Given the description of an element on the screen output the (x, y) to click on. 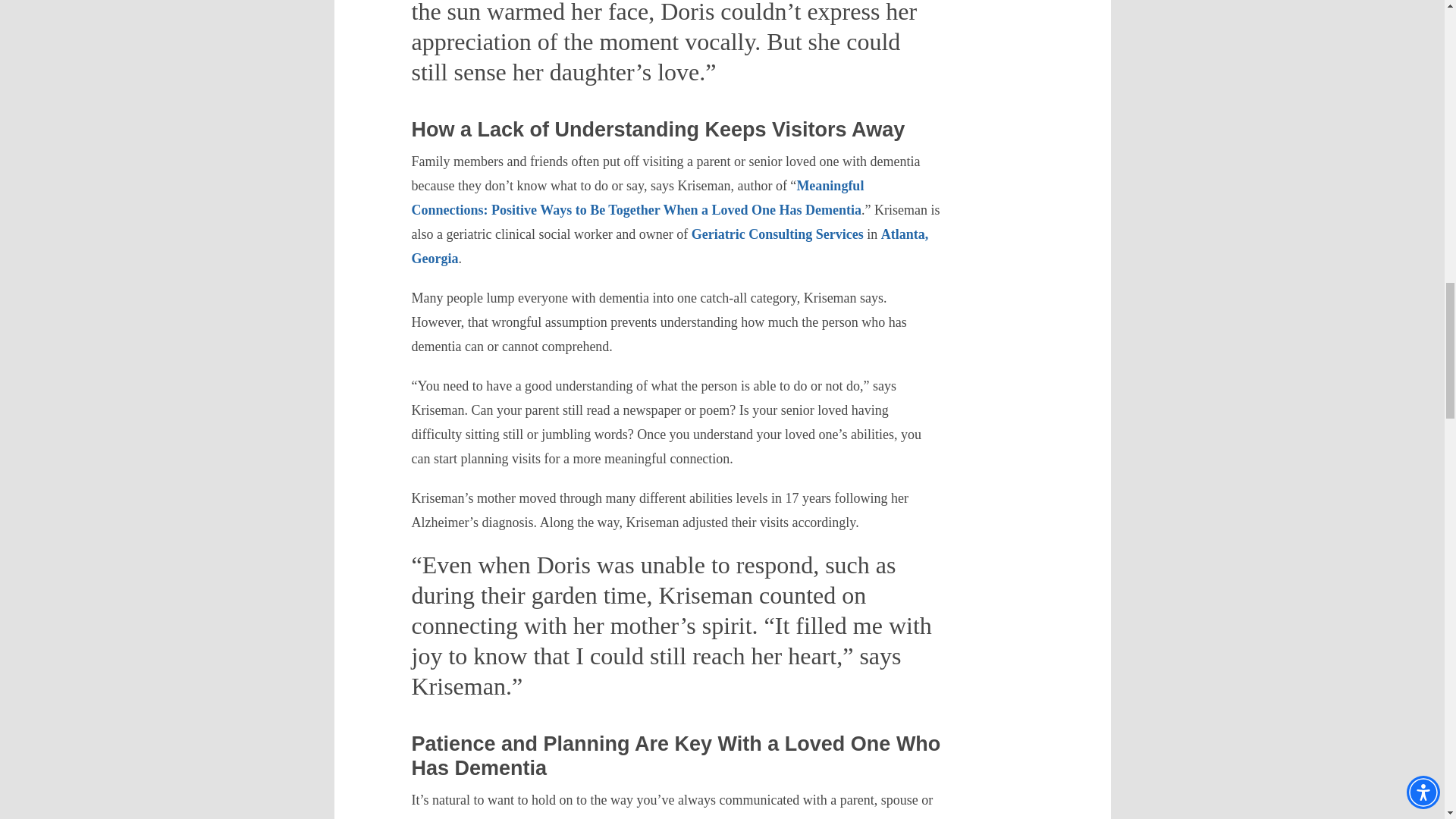
Geriatric Consulting Services (777, 233)
Atlanta, Georgia (669, 246)
